Given the description of an element on the screen output the (x, y) to click on. 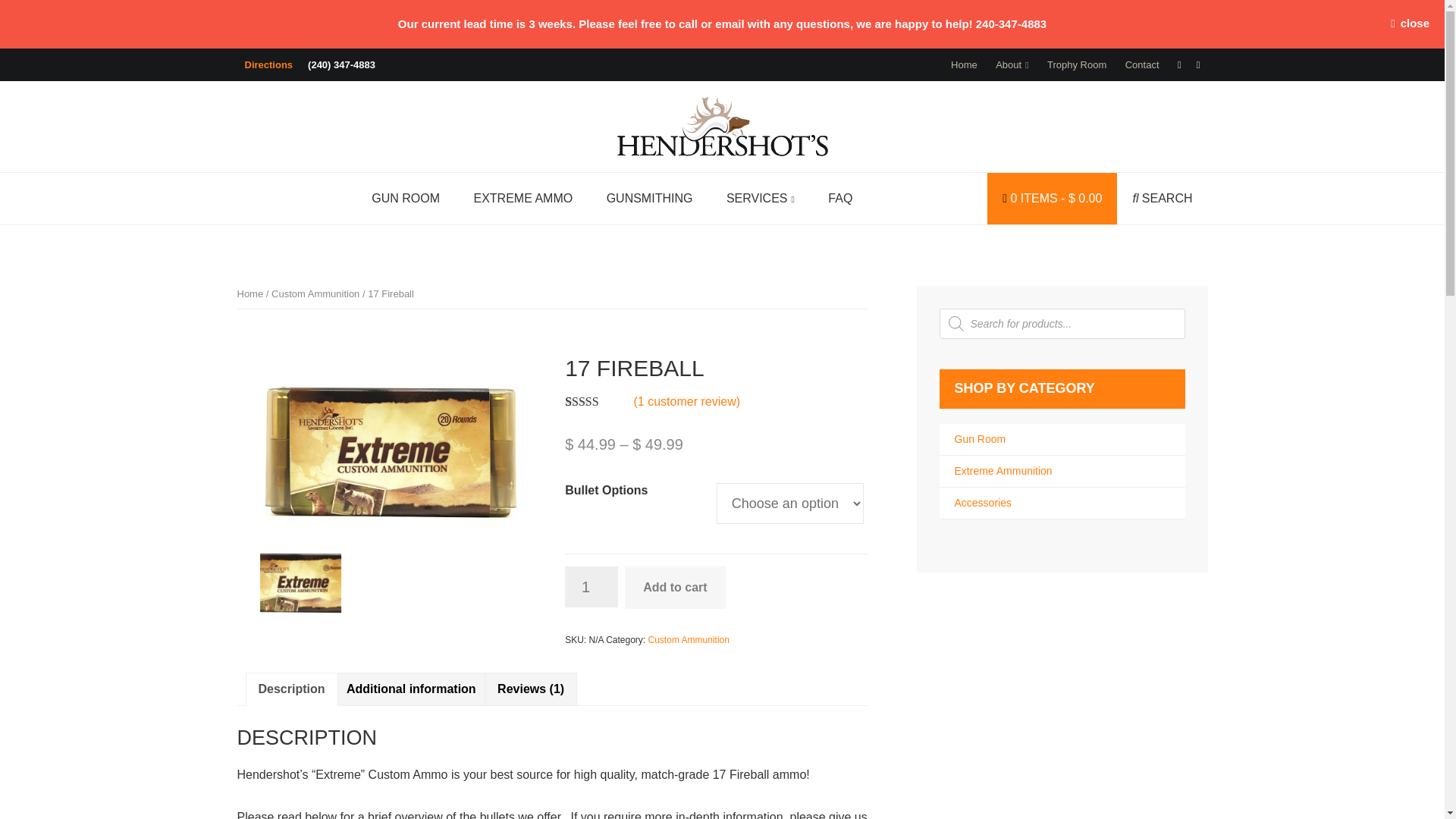
Start shopping (1051, 198)
17 Fireball (386, 443)
close (1409, 23)
About (1011, 64)
Directions (267, 64)
17 Fireball (299, 578)
search (1161, 198)
Trophy Room (1076, 64)
SEARCH (1161, 198)
FAQ (839, 198)
Custom Ammunition (314, 293)
Home (964, 64)
EXTREME AMMO (523, 198)
Home (249, 293)
GUNSMITHING (649, 198)
